Given the description of an element on the screen output the (x, y) to click on. 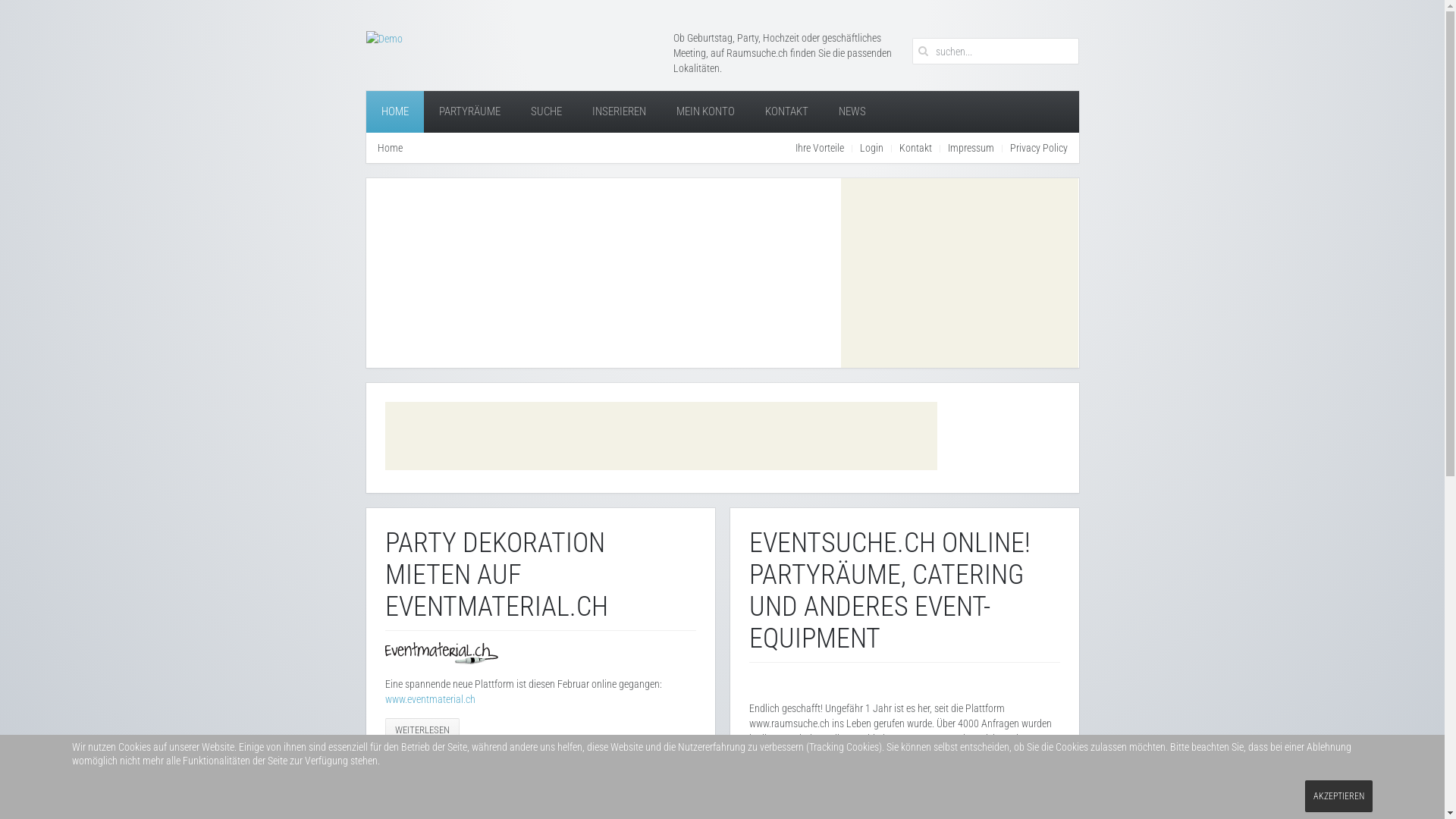
Kontakt Element type: text (915, 147)
SUCHE Element type: text (546, 111)
Impressum Element type: text (970, 147)
MEIN KONTO Element type: text (705, 111)
Ihre Vorteile Element type: text (818, 147)
Advertisement Element type: hover (959, 272)
HOME Element type: text (394, 111)
KONTAKT Element type: text (785, 111)
Advertisement Element type: hover (661, 435)
WEITERLESEN Element type: text (422, 730)
NEWS Element type: text (852, 111)
www.eventsuche.ch Element type: text (789, 799)
INSERIEREN Element type: text (618, 111)
www.eventmaterial.ch Element type: text (430, 699)
Login Element type: text (871, 147)
AKZEPTIEREN Element type: text (1338, 796)
Privacy Policy Element type: text (1038, 147)
